Given the description of an element on the screen output the (x, y) to click on. 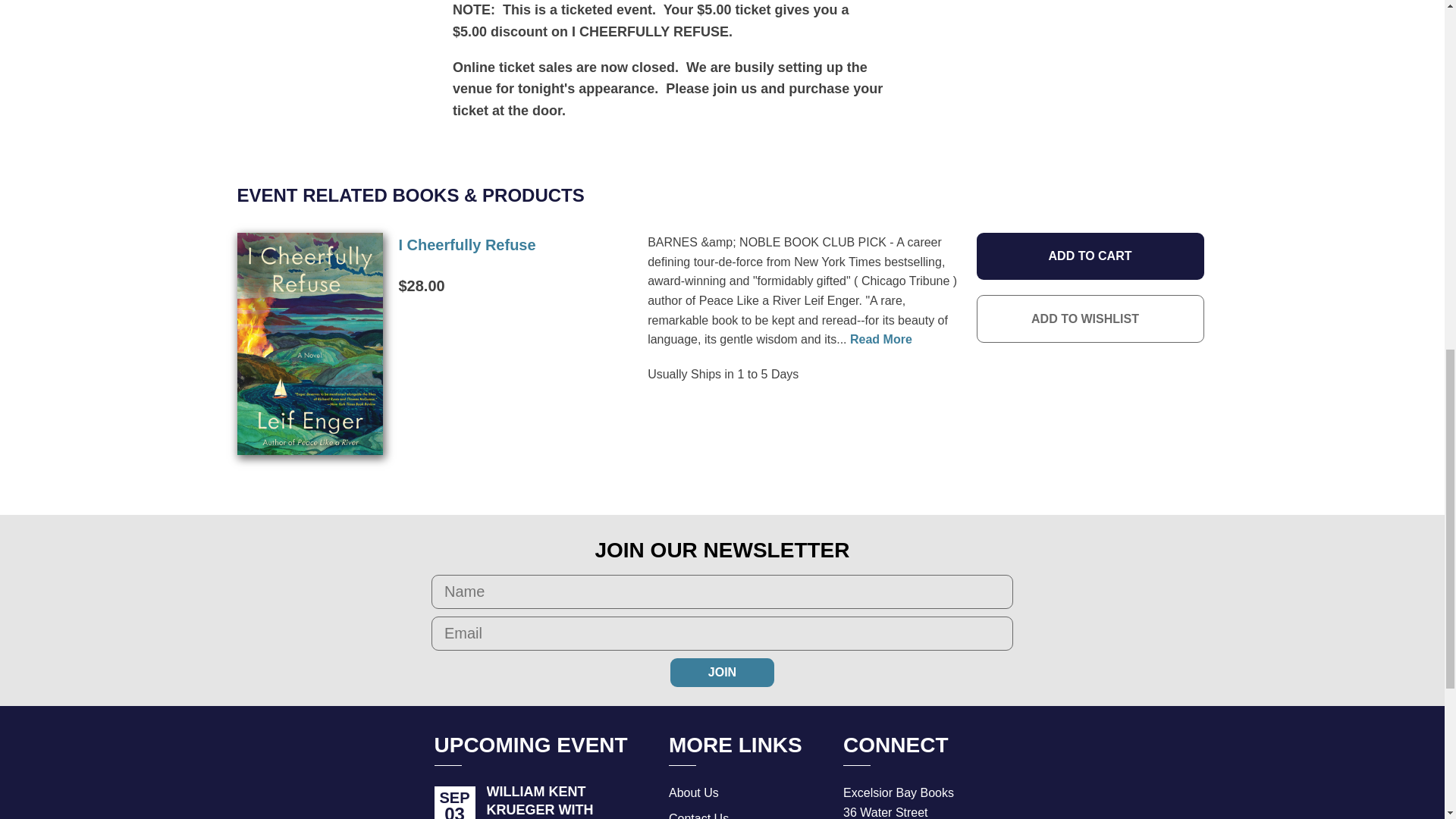
ADD TO CART (1090, 256)
About Us (693, 792)
Join (721, 672)
Join (721, 672)
I Cheerfully Refuse (881, 338)
ADD TO WISHLIST (466, 244)
Contact Us (1090, 318)
